Given the description of an element on the screen output the (x, y) to click on. 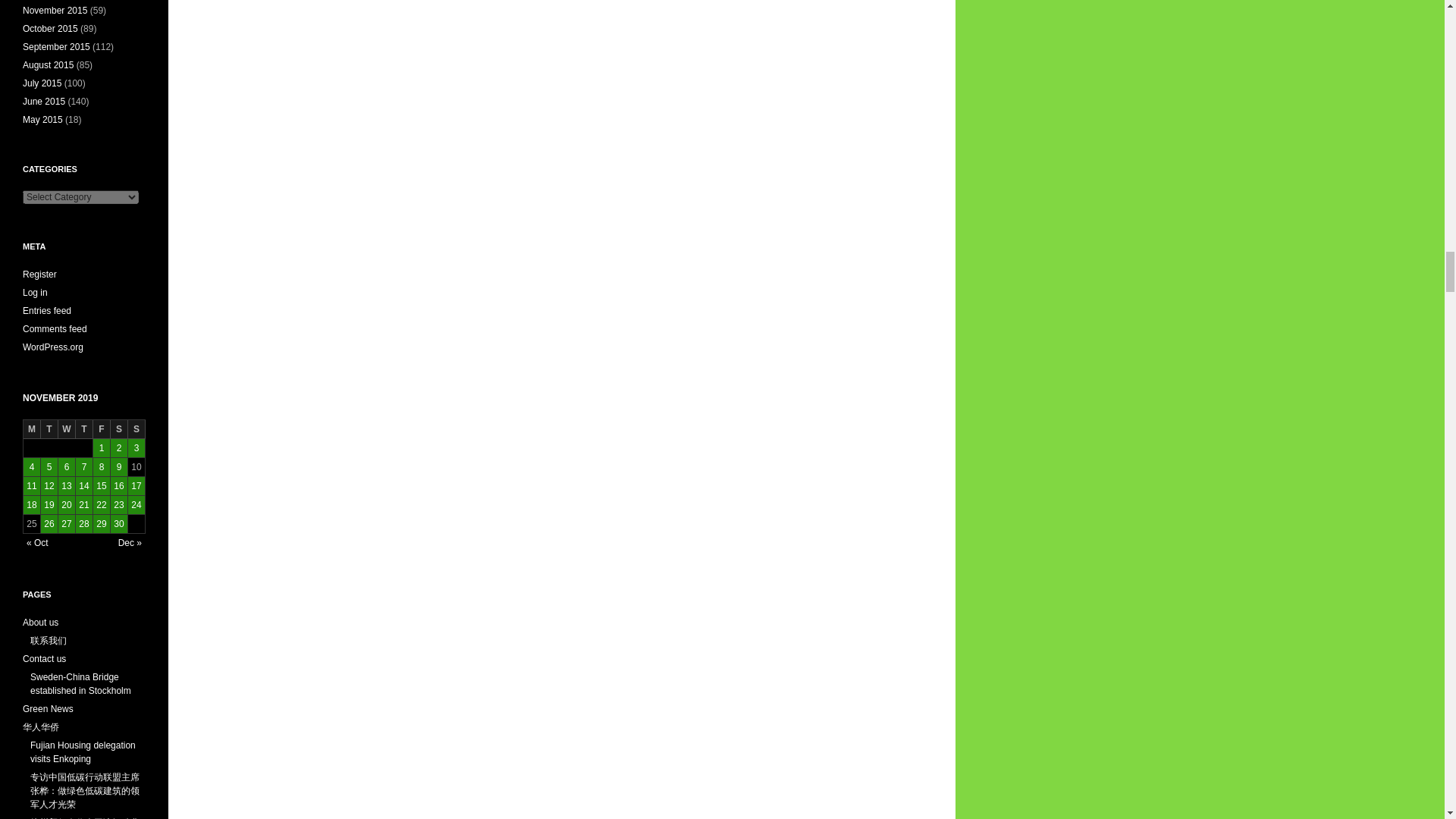
Thursday (84, 429)
Sunday (136, 429)
Friday (101, 429)
Wednesday (66, 429)
Saturday (119, 429)
Tuesday (49, 429)
Monday (31, 429)
